Given the description of an element on the screen output the (x, y) to click on. 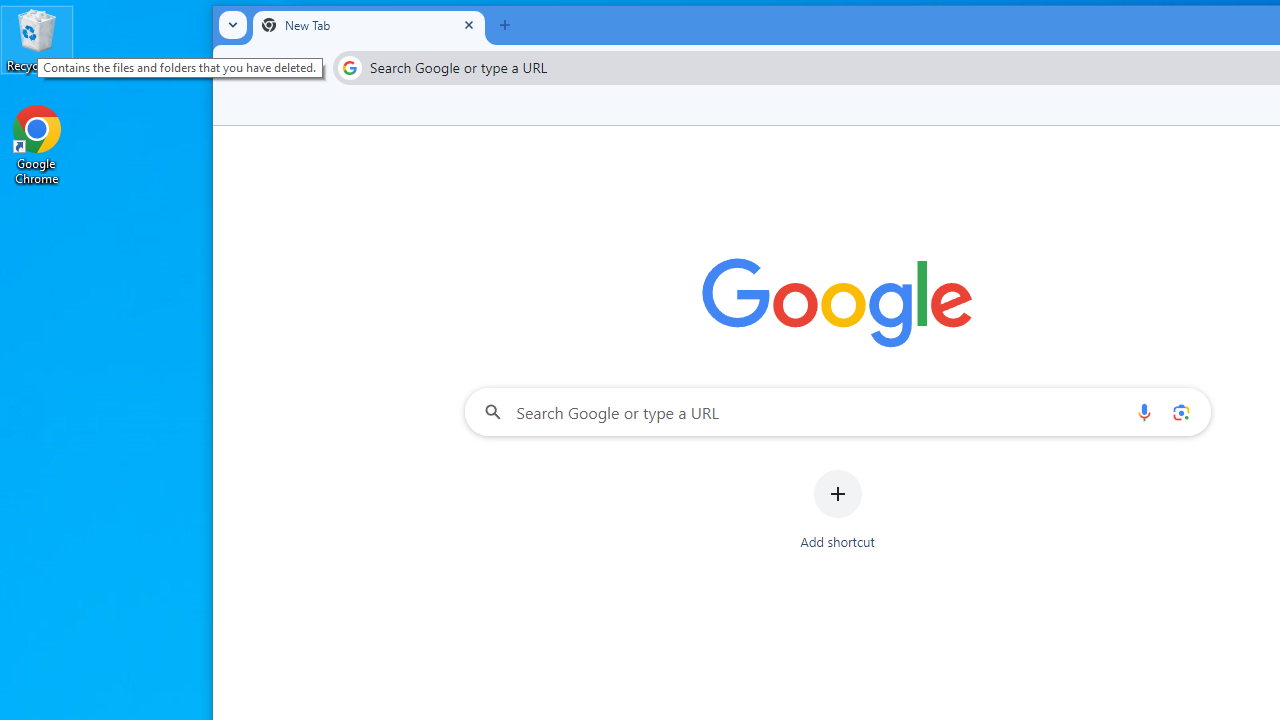
Google Chrome (37, 144)
Recycle Bin (37, 39)
